Given the description of an element on the screen output the (x, y) to click on. 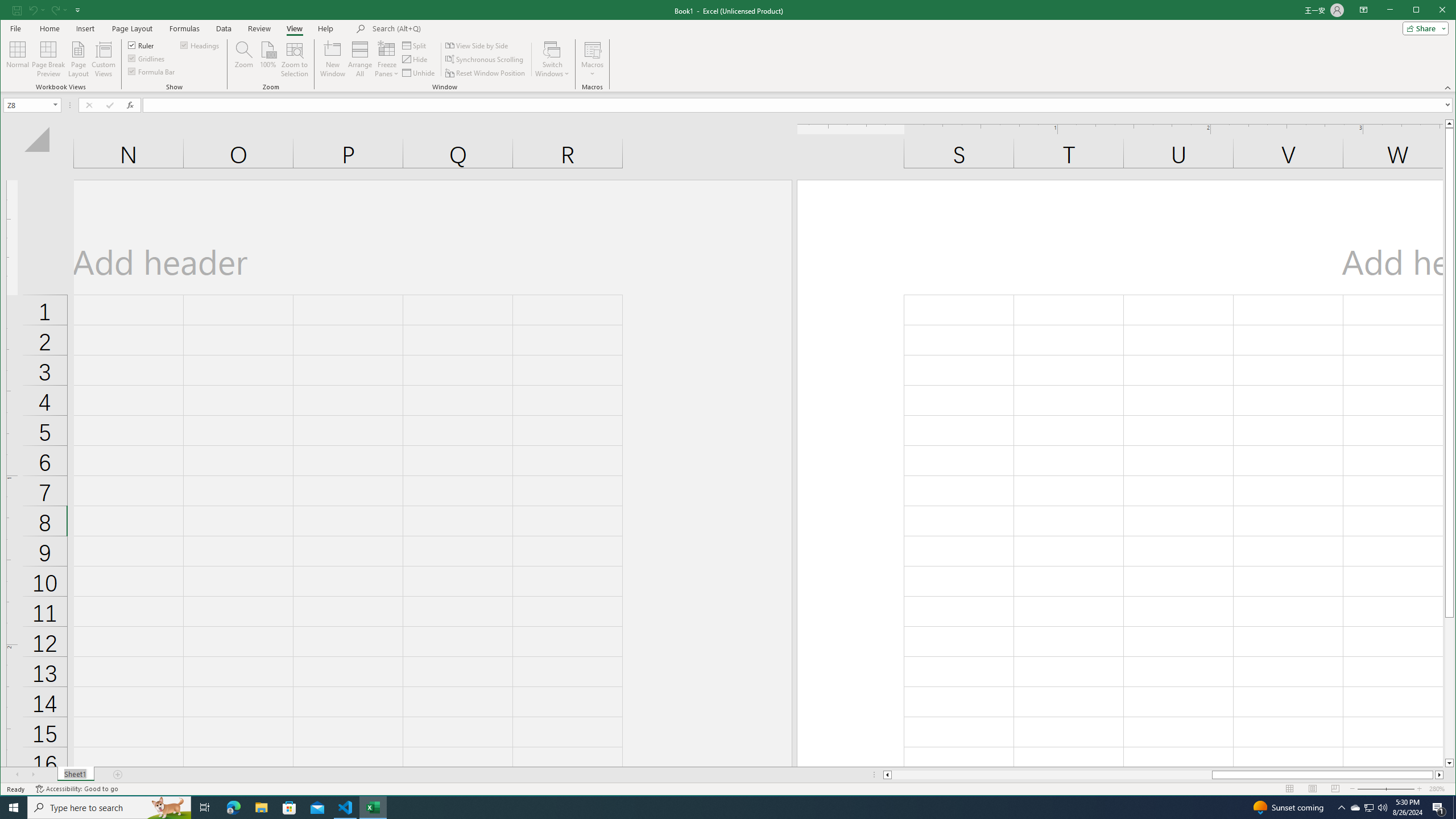
Unhide... (419, 72)
100% (267, 59)
Synchronous Scrolling (485, 59)
New Window (332, 59)
